Given the description of an element on the screen output the (x, y) to click on. 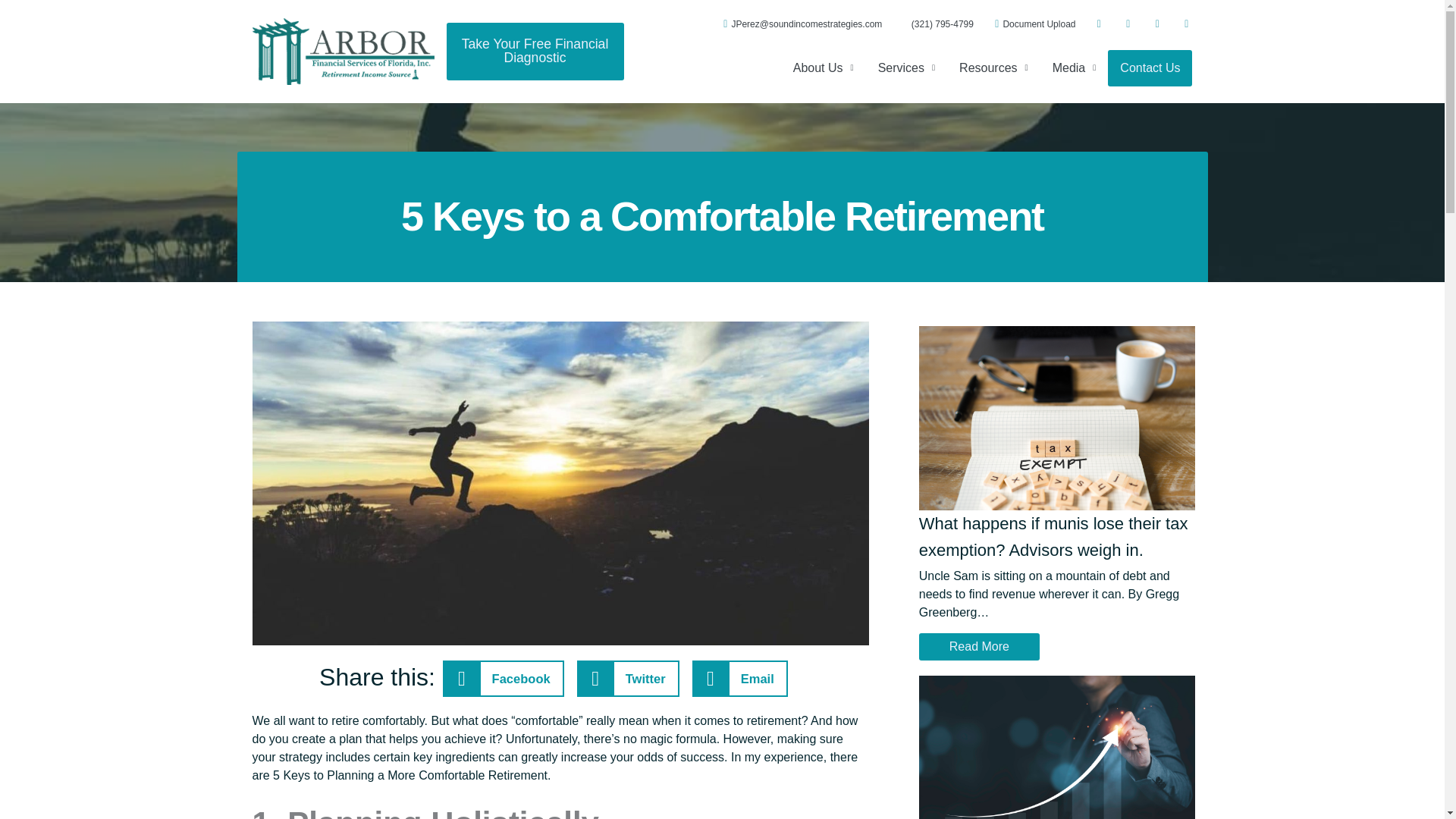
Services (905, 67)
About Us (823, 67)
Take Your Free Financial Diagnostic (534, 50)
Resources (993, 67)
arbor-new-logo (342, 51)
Media (1074, 67)
Document Upload (1030, 24)
